Given the description of an element on the screen output the (x, y) to click on. 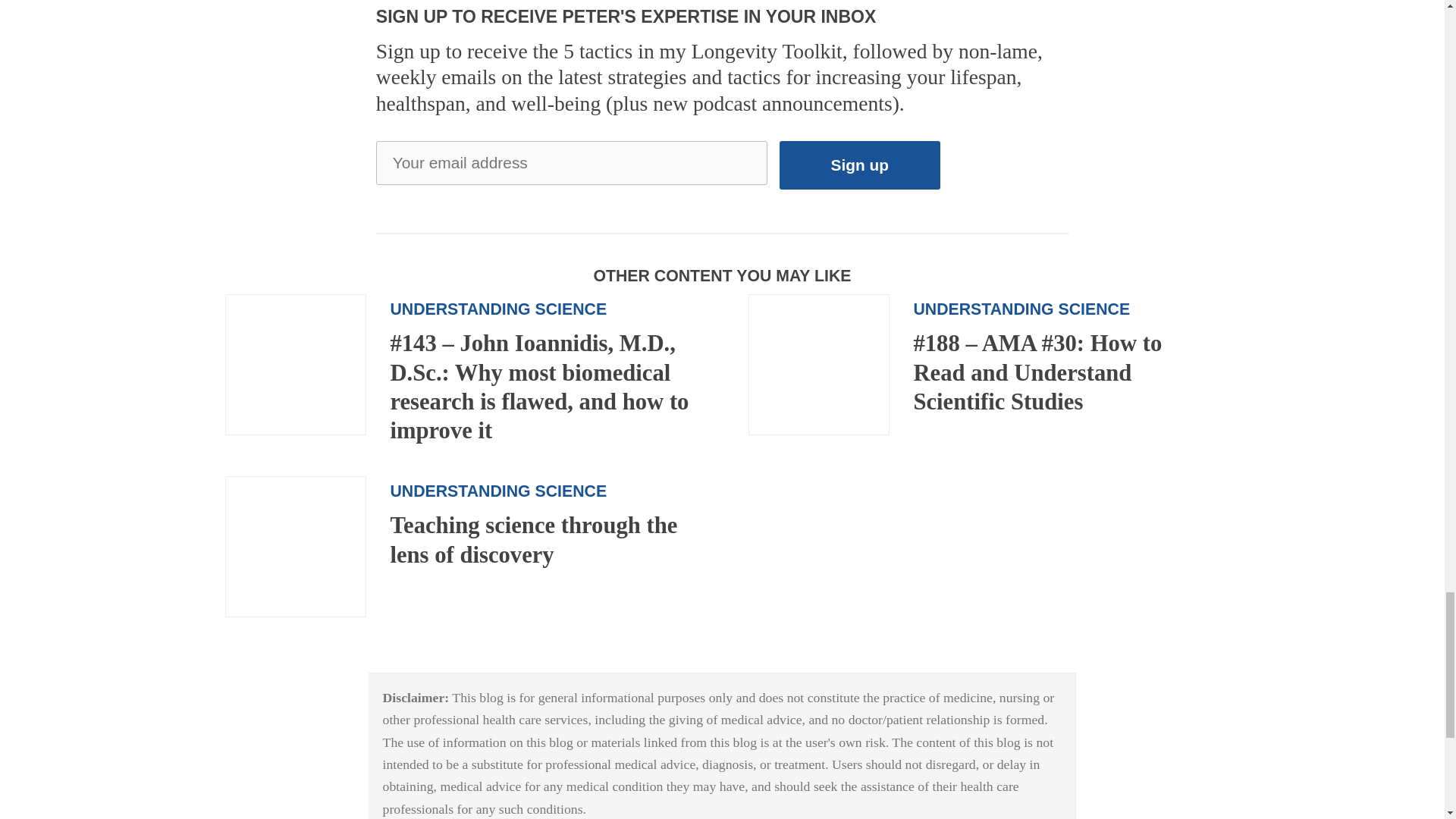
Sign up (859, 164)
